Given the description of an element on the screen output the (x, y) to click on. 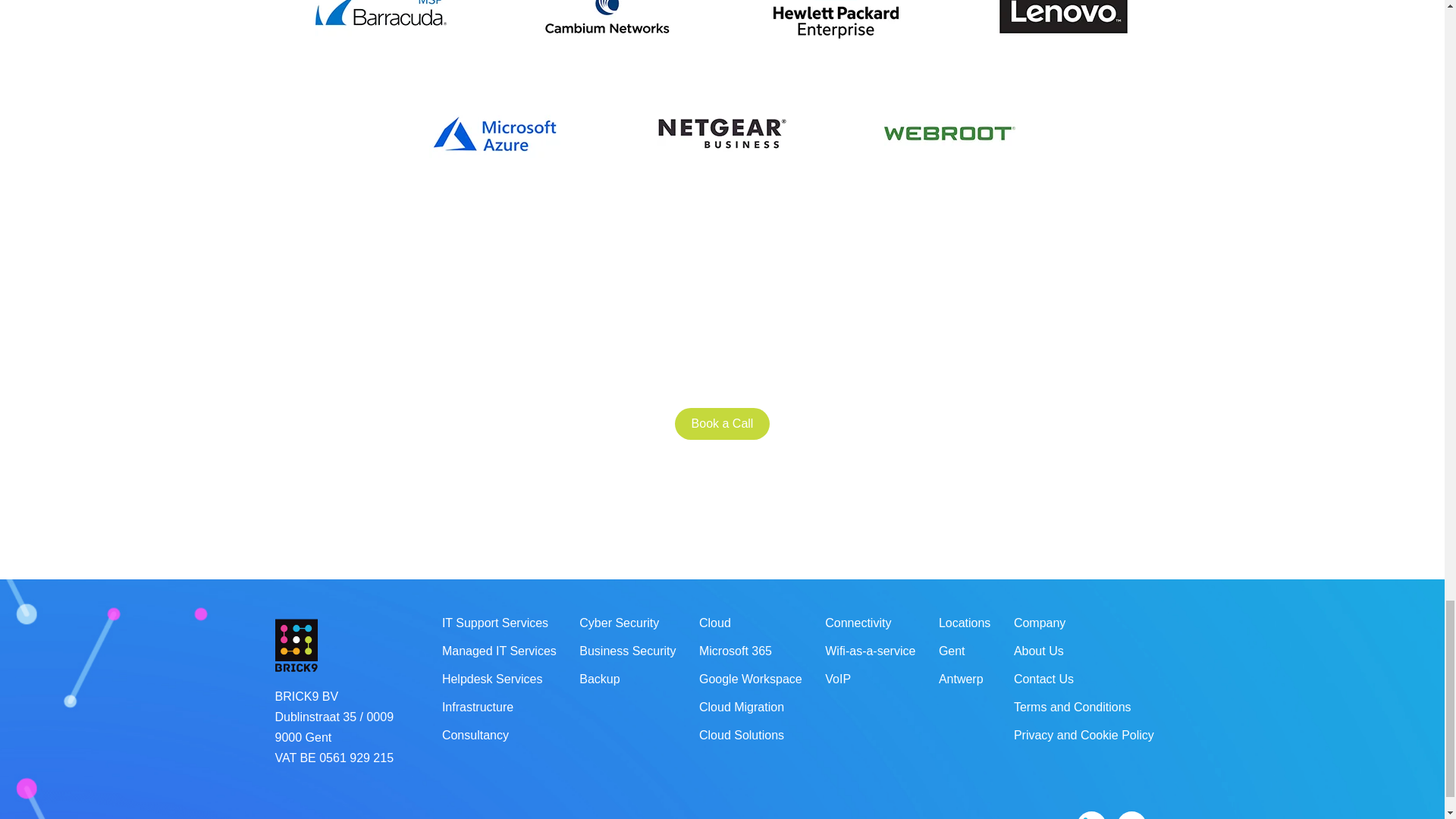
Backup (599, 679)
Cloud Migration (741, 707)
Helpdesk Services (492, 679)
Cyber Security (619, 623)
Consultancy (475, 735)
Cloud Solutions (741, 735)
Business Security (627, 651)
Infrastructure (477, 707)
Microsoft 365 (734, 651)
Book a Call (722, 423)
